Given the description of an element on the screen output the (x, y) to click on. 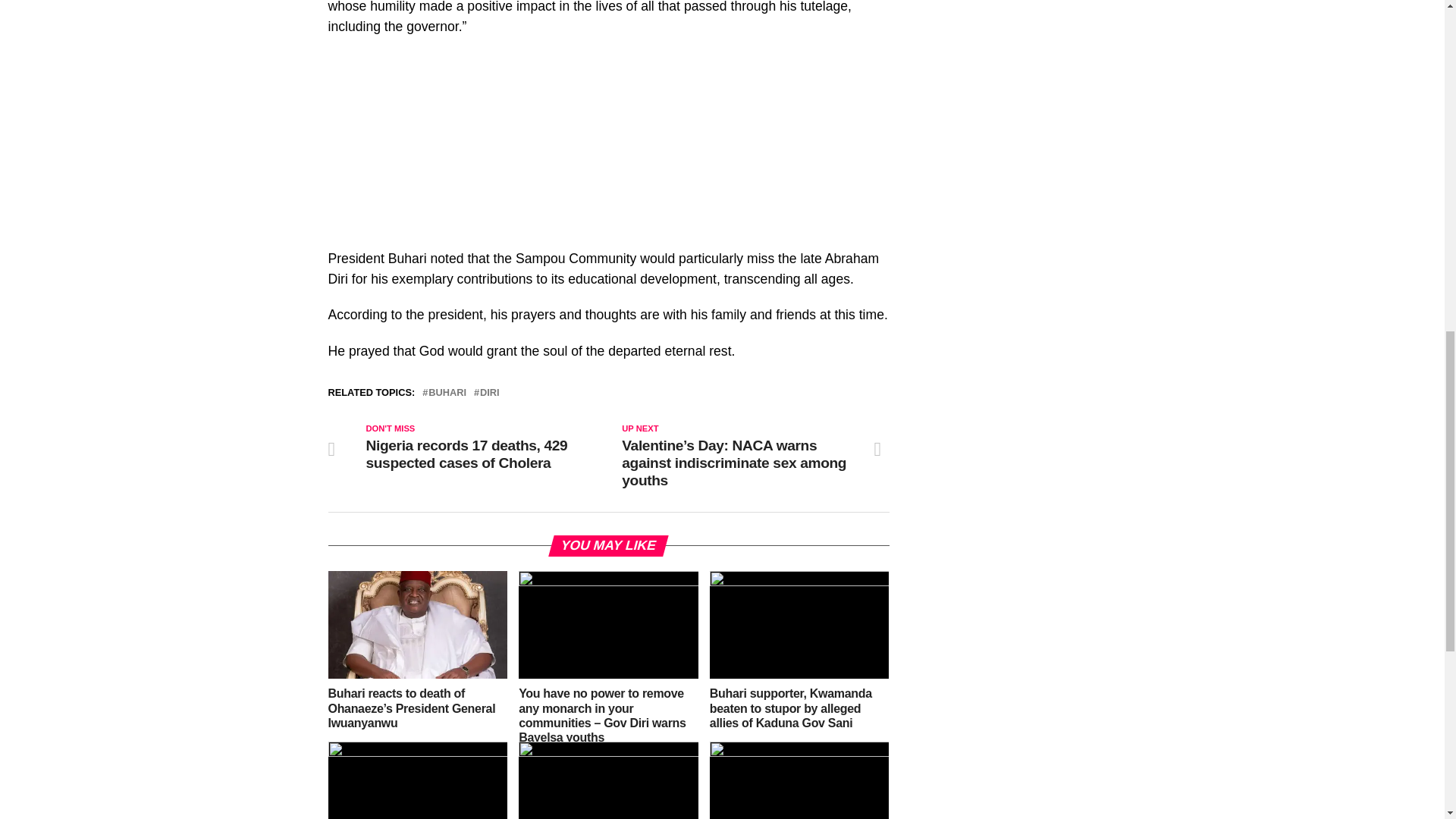
BUHARI (446, 393)
DIRI (489, 393)
